Given the description of an element on the screen output the (x, y) to click on. 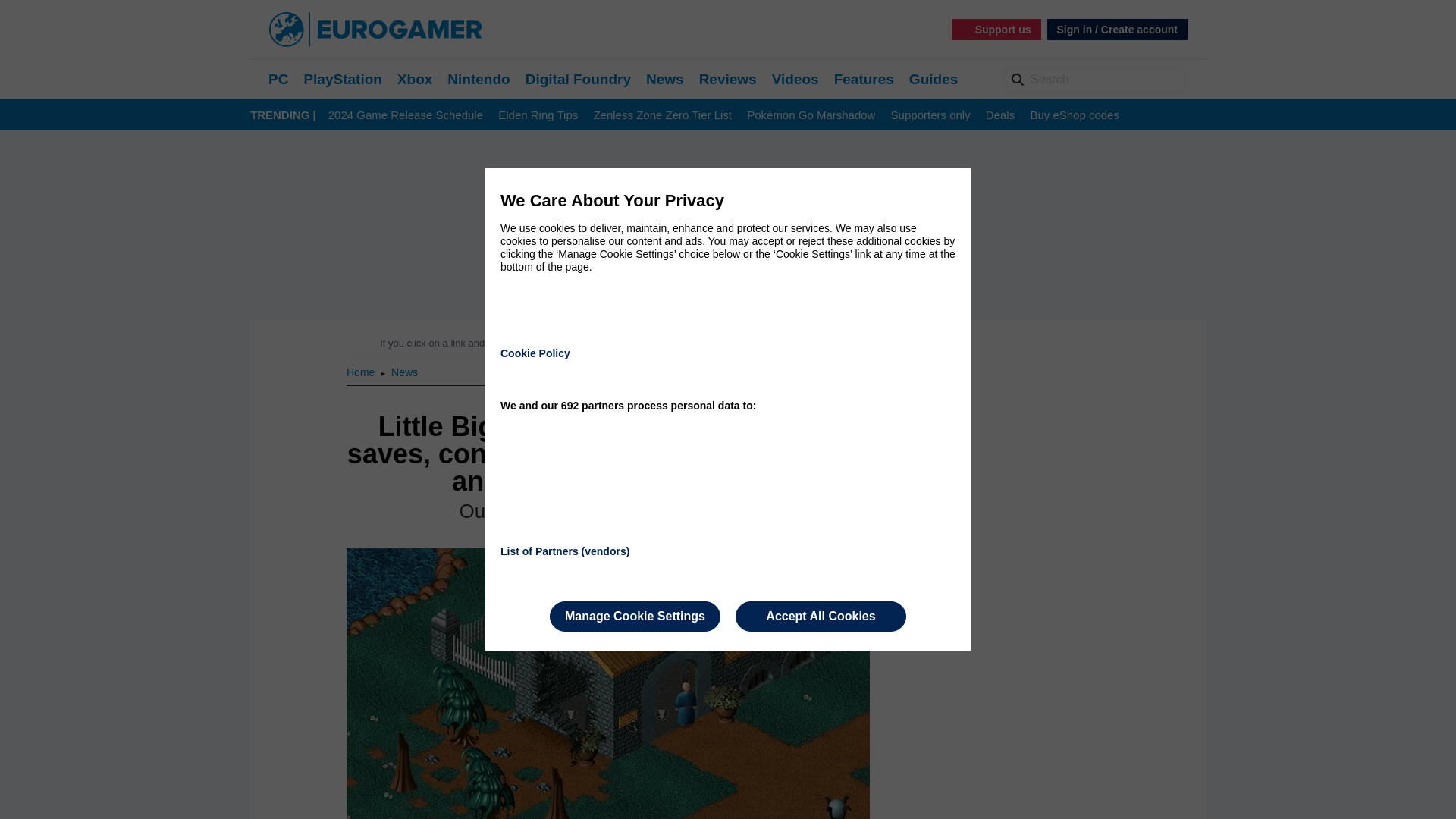
Features (863, 78)
News (404, 372)
Buy eShop codes (1074, 114)
Supporters only (931, 114)
News (404, 372)
2024 Game Release Schedule (406, 114)
Nintendo (477, 78)
Guides (933, 78)
News (665, 78)
Home (361, 372)
Xbox (414, 78)
PlayStation (341, 78)
Deals (999, 114)
Reviews (727, 78)
News (665, 78)
